Given the description of an element on the screen output the (x, y) to click on. 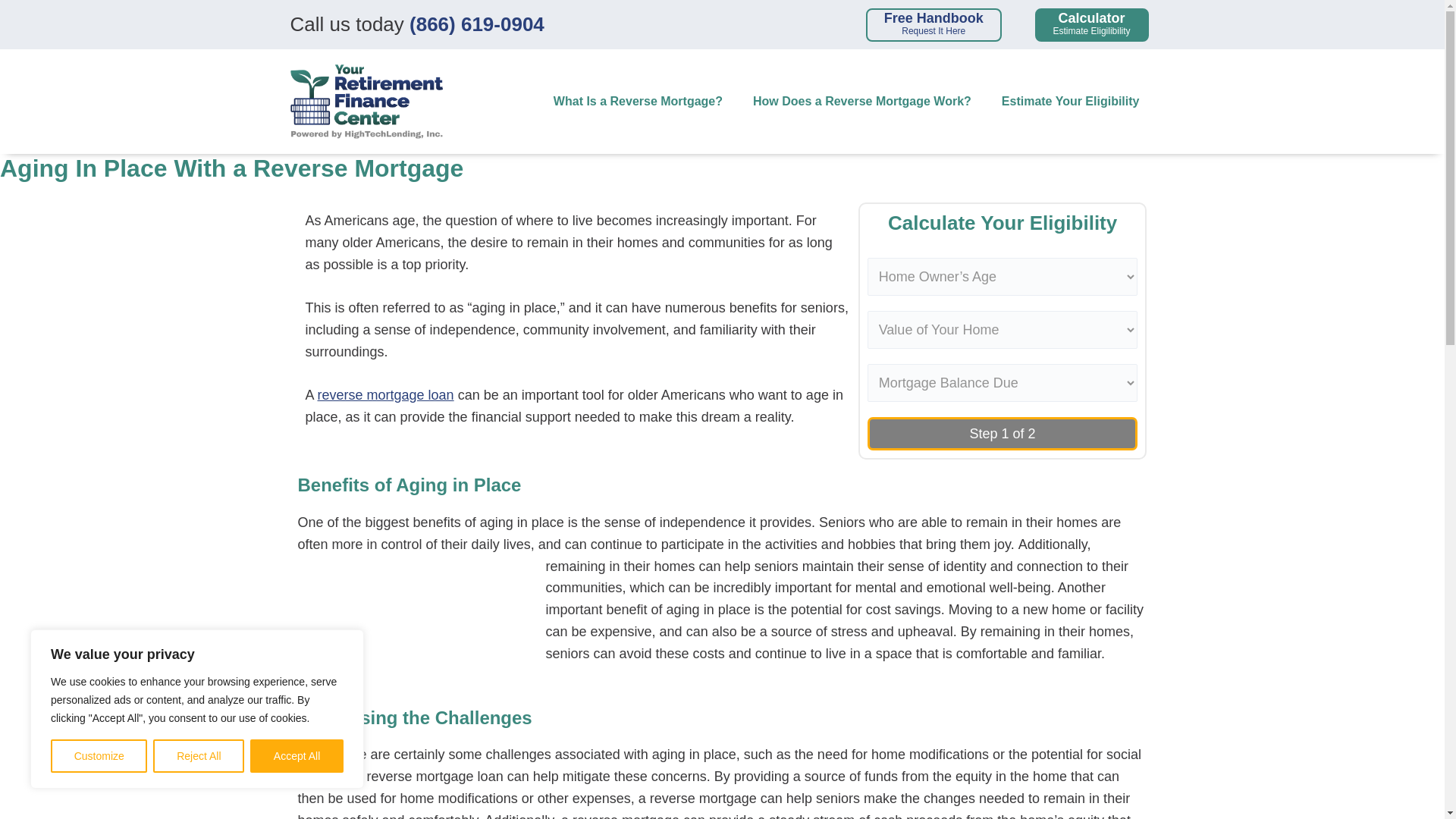
Customize (98, 756)
Reject All (198, 756)
How Does a Reverse Mortgage Work? (862, 101)
reverse mortgage loan (385, 394)
Accept All (296, 756)
What Is a Reverse Mortgage? (933, 24)
Step 1 of 2 (638, 101)
Estimate Your Eligibility (1091, 24)
